Given the description of an element on the screen output the (x, y) to click on. 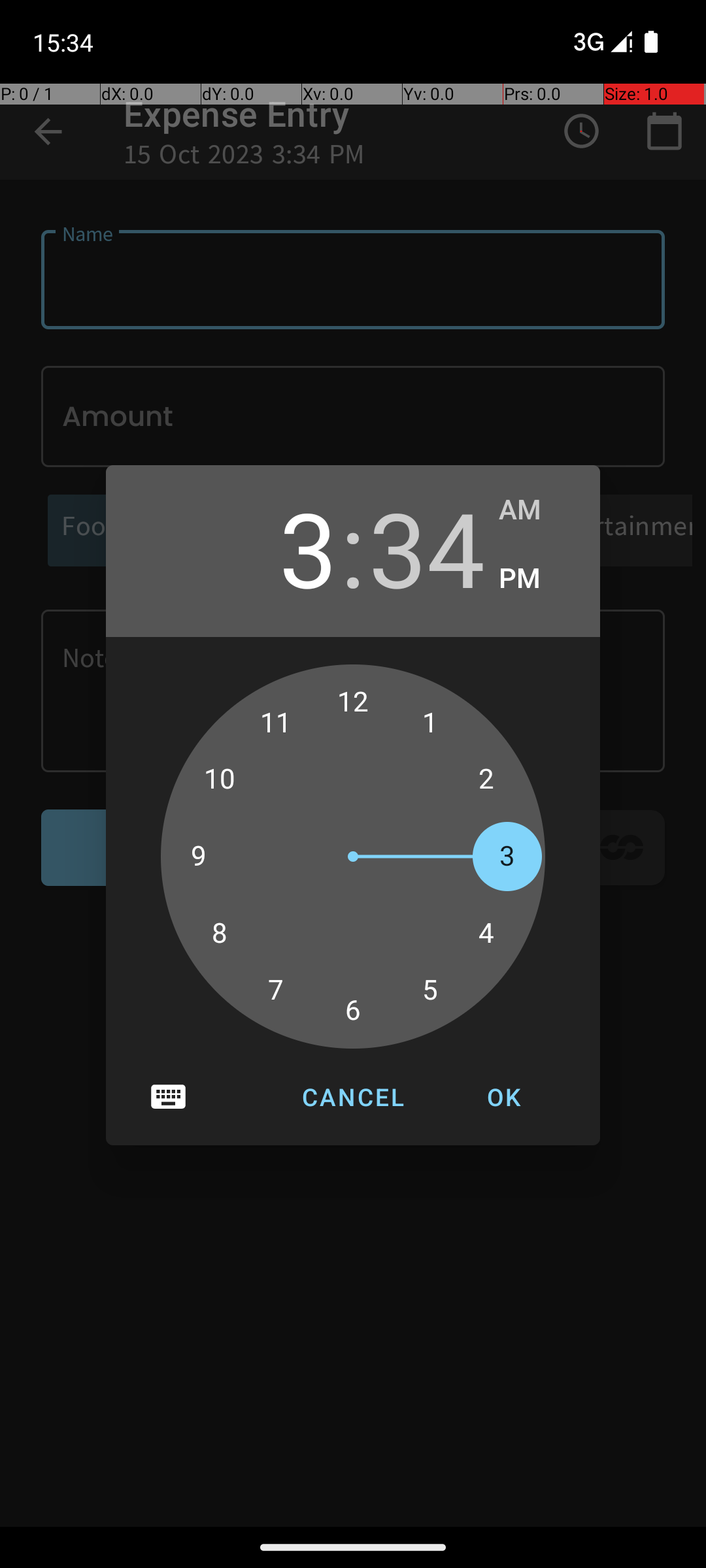
34 Element type: android.widget.TextView (426, 547)
11 Element type: android.widget.RadialTimePickerView$RadialPickerTouchHelper (275, 722)
12 Element type: android.widget.RadialTimePickerView$RadialPickerTouchHelper (352, 701)
CANCEL Element type: android.widget.Button (352, 1096)
AM Element type: android.widget.RadioButton (535, 510)
PM Element type: android.widget.RadioButton (535, 578)
